Given the description of an element on the screen output the (x, y) to click on. 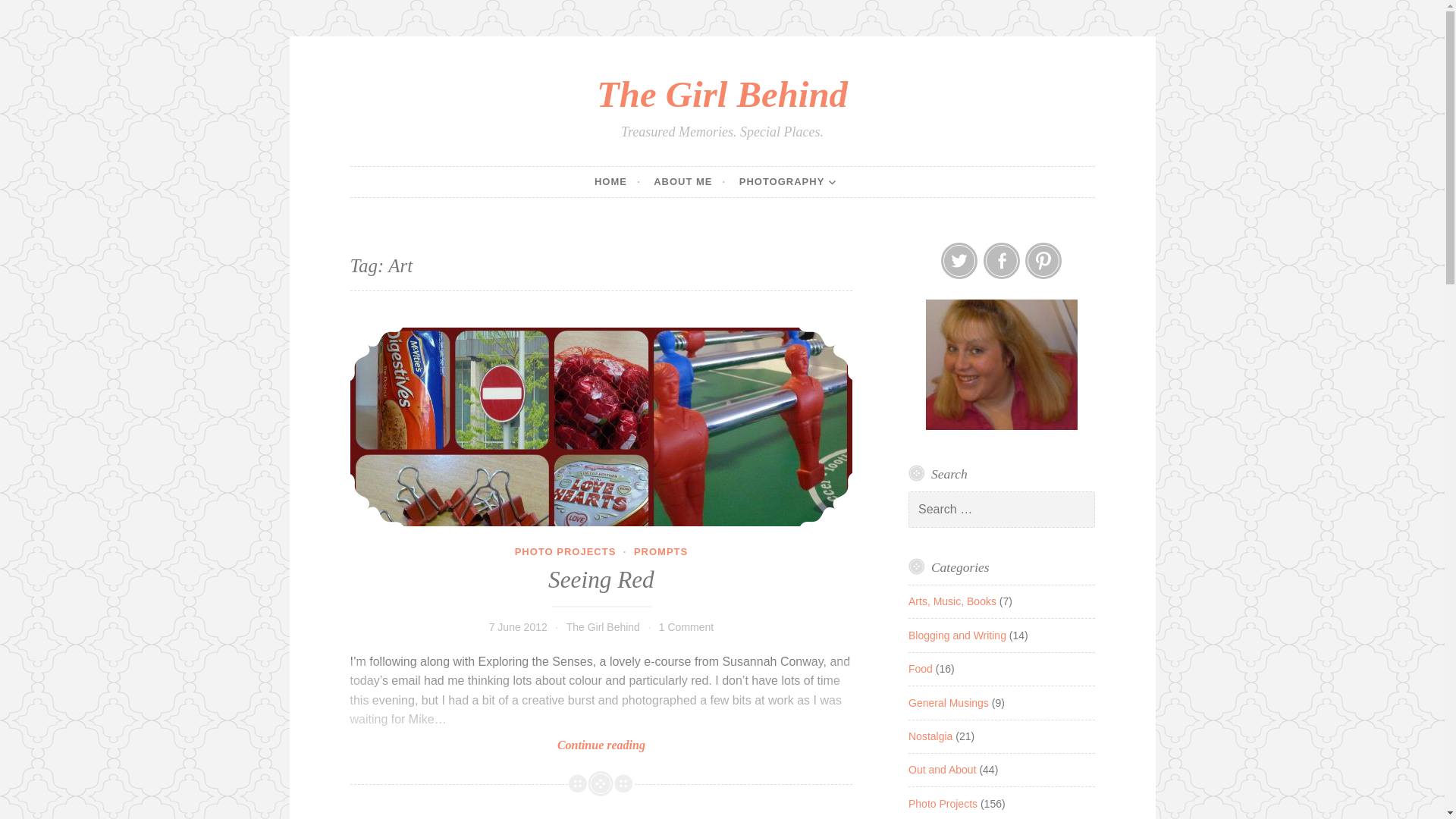
PHOTO PROJECTS (565, 551)
PROMPTS (660, 551)
The Girl Behind (603, 626)
The Girl Behind (721, 94)
7 June 2012 (518, 626)
HOME (617, 182)
Seeing Red (601, 426)
ABOUT ME (689, 182)
PHOTOGRAPHY (794, 182)
Seeing Red (601, 426)
1 Comment (686, 626)
Seeing Red (601, 706)
